Given the description of an element on the screen output the (x, y) to click on. 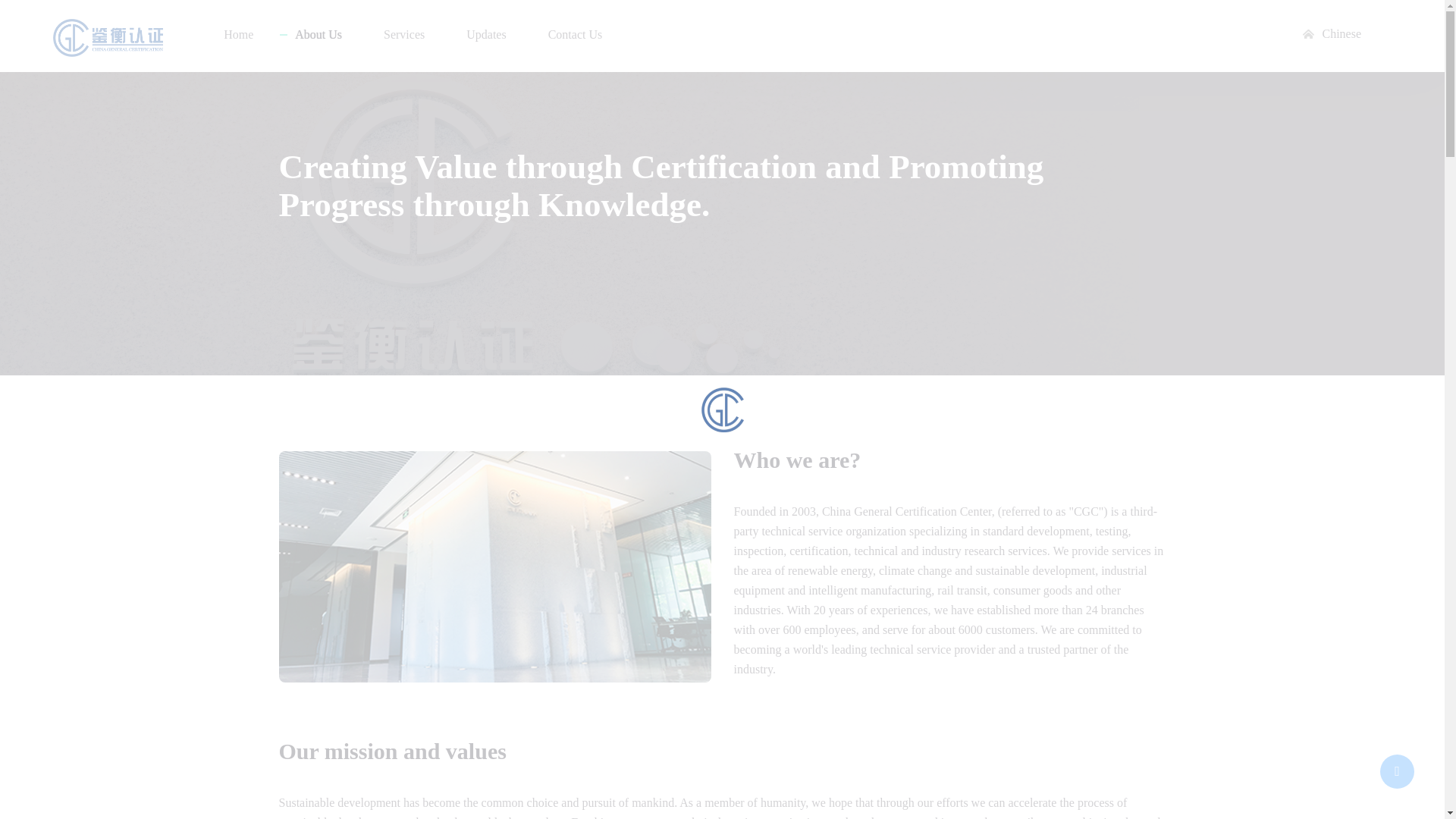
Contact Us (575, 35)
About Us (318, 35)
Chinese (1341, 33)
Updates (485, 35)
Services (404, 35)
Home (238, 35)
